Given the description of an element on the screen output the (x, y) to click on. 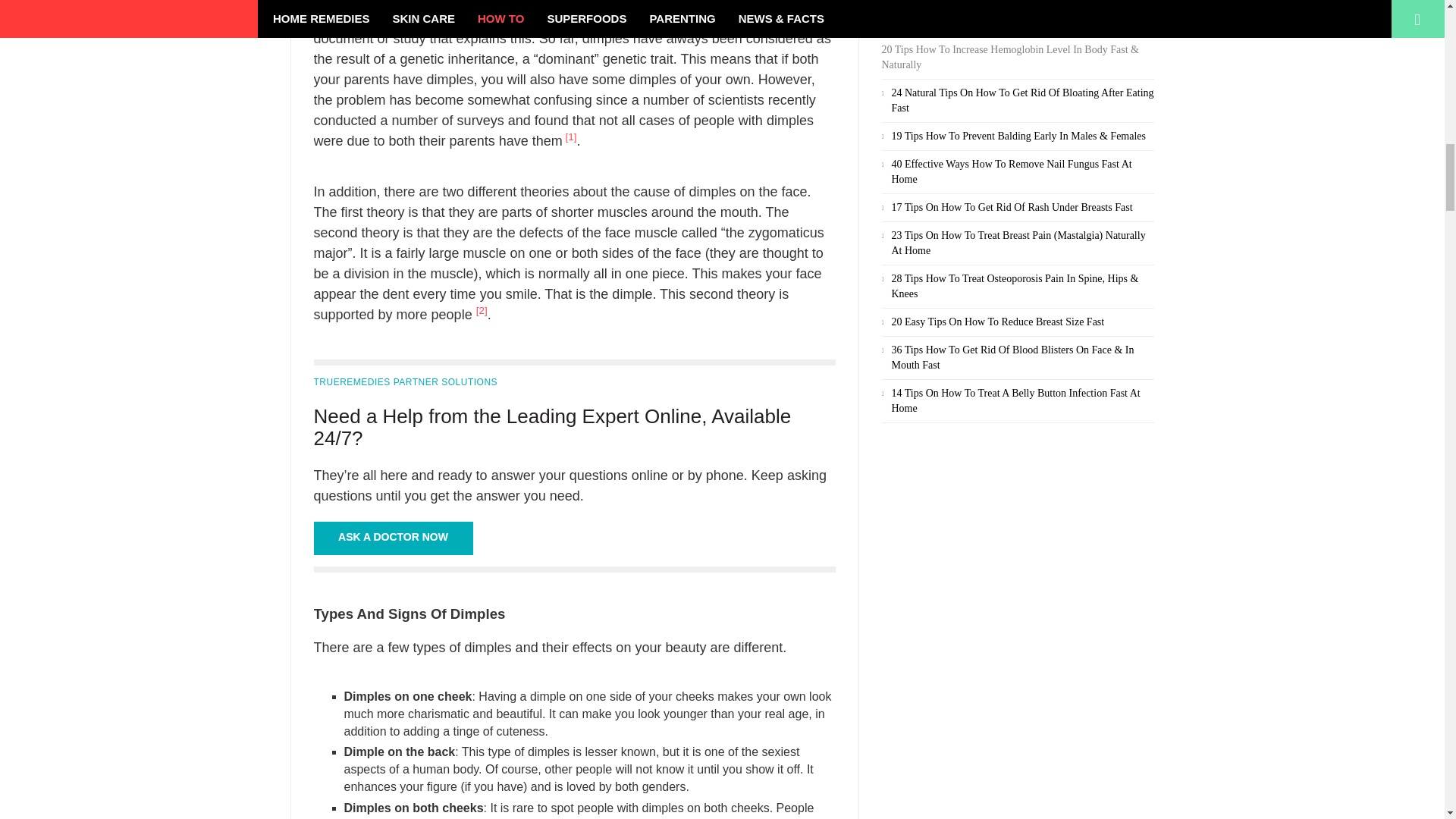
ASK A DOCTOR NOW (393, 538)
